Given the description of an element on the screen output the (x, y) to click on. 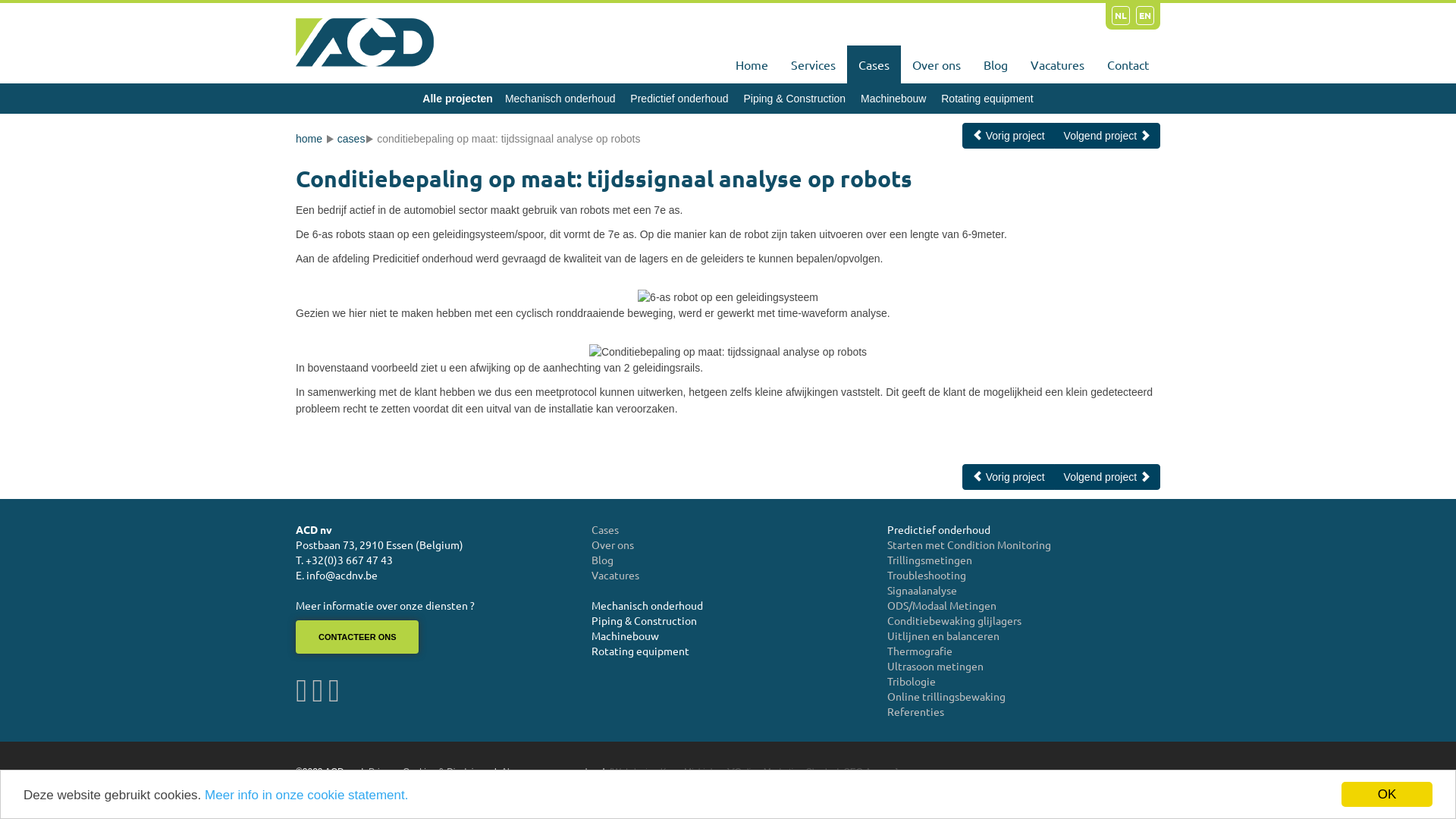
Trillingsmetingen Element type: text (929, 559)
Troubleshooting Element type: text (926, 574)
Volgend project Element type: text (1107, 135)
Referenties Element type: text (915, 711)
Rotating equipment Element type: text (640, 650)
info@acdnv.be Element type: text (341, 574)
Machinebouw Element type: text (624, 635)
Cases Element type: text (873, 64)
Meer info in onze cookie statement. Element type: text (305, 794)
Mechanisch onderhoud Element type: text (646, 604)
Contact Element type: text (1127, 64)
Online trillingsbewaking Element type: text (946, 695)
Over ons Element type: text (612, 544)
Privacy, Cookies & Disclaimer Element type: text (428, 771)
Uitlijnen en balanceren Element type: text (943, 635)
Algemene voorwaarden Element type: text (549, 771)
Vacatures Element type: text (1057, 64)
Predictief onderhoud Element type: text (938, 529)
Piping & Construction Element type: text (794, 98)
cases Element type: text (351, 138)
Blog Element type: text (602, 559)
CONTACTEER ONS Element type: text (356, 636)
[Online Marketing Sherlock SEO Agency] Element type: text (814, 771)
Cases Element type: text (604, 529)
Starten met Condition Monitoring Element type: text (969, 544)
Home Element type: text (751, 64)
Mechanisch onderhoud Element type: text (560, 98)
ODS/Modaal Metingen Element type: text (941, 604)
[Webdesign Koen Michielsen] Element type: text (669, 771)
Tribologie Element type: text (911, 680)
Signaalanalyse Element type: text (922, 589)
Predictief onderhoud Element type: text (679, 98)
Conditiebewaking glijlagers Element type: text (954, 620)
Vorig project Element type: text (1008, 135)
Ultrasoon metingen Element type: text (935, 665)
Thermografie Element type: text (919, 650)
NL Element type: text (1120, 15)
Vorig project Element type: text (1008, 476)
Volgend project Element type: text (1107, 476)
home Element type: text (308, 138)
Vacatures Element type: text (615, 574)
Services Element type: text (813, 64)
Alle projecten Element type: text (457, 98)
OK Element type: text (1386, 793)
Rotating equipment Element type: text (986, 98)
EN Element type: text (1144, 15)
Over ons Element type: text (936, 64)
Machinebouw Element type: text (892, 98)
Piping & Construction Element type: text (643, 620)
Blog Element type: text (995, 64)
